Given the description of an element on the screen output the (x, y) to click on. 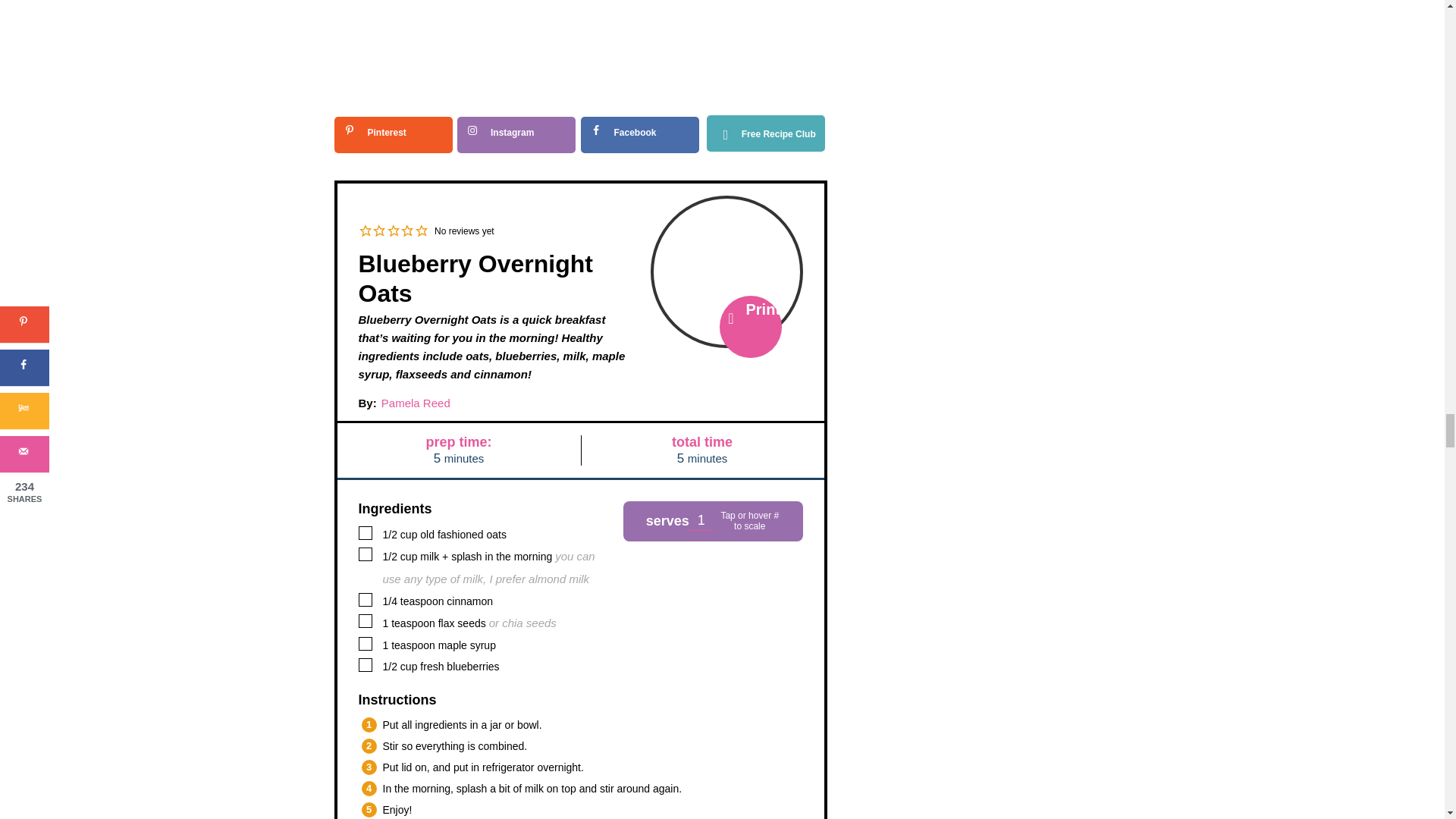
Follow on Facebook (639, 135)
Follow on Pinterest (392, 135)
Follow on Instagram (516, 135)
